Given the description of an element on the screen output the (x, y) to click on. 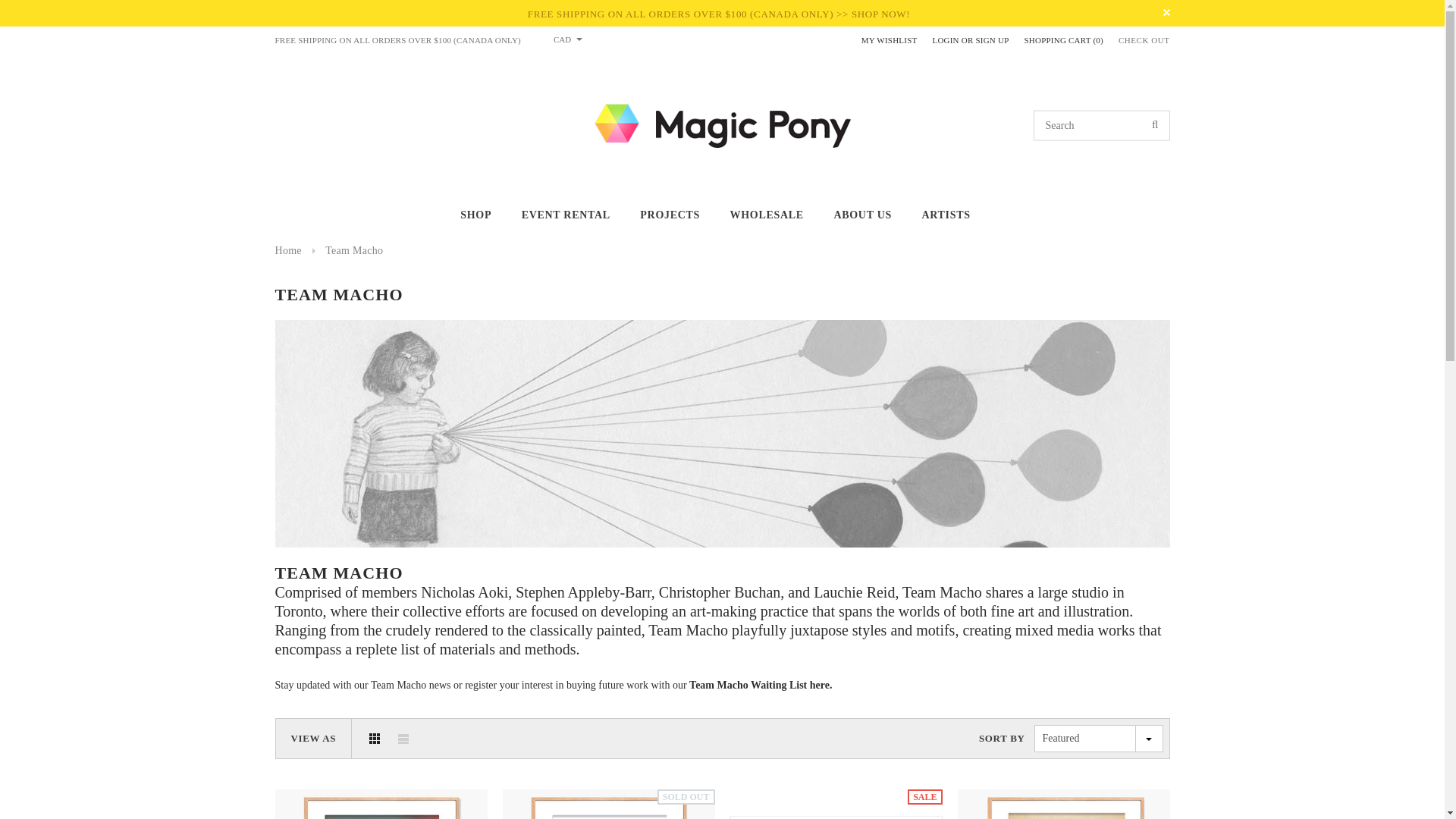
SIGN UP (992, 40)
ABOUT US (861, 215)
ARTISTS (945, 215)
List view (403, 738)
PROJECTS (670, 215)
SHOPPING CART 0 (1064, 40)
SHOP NOW! (880, 13)
WHOLESALE (766, 215)
Grid view (374, 738)
Magic Pony x Team Macho Artwork (759, 685)
LOGIN (944, 40)
SHOP (476, 215)
CHECK OUT (1144, 40)
EVENT RENTAL (565, 215)
MY WISHLIST (889, 40)
